Given the description of an element on the screen output the (x, y) to click on. 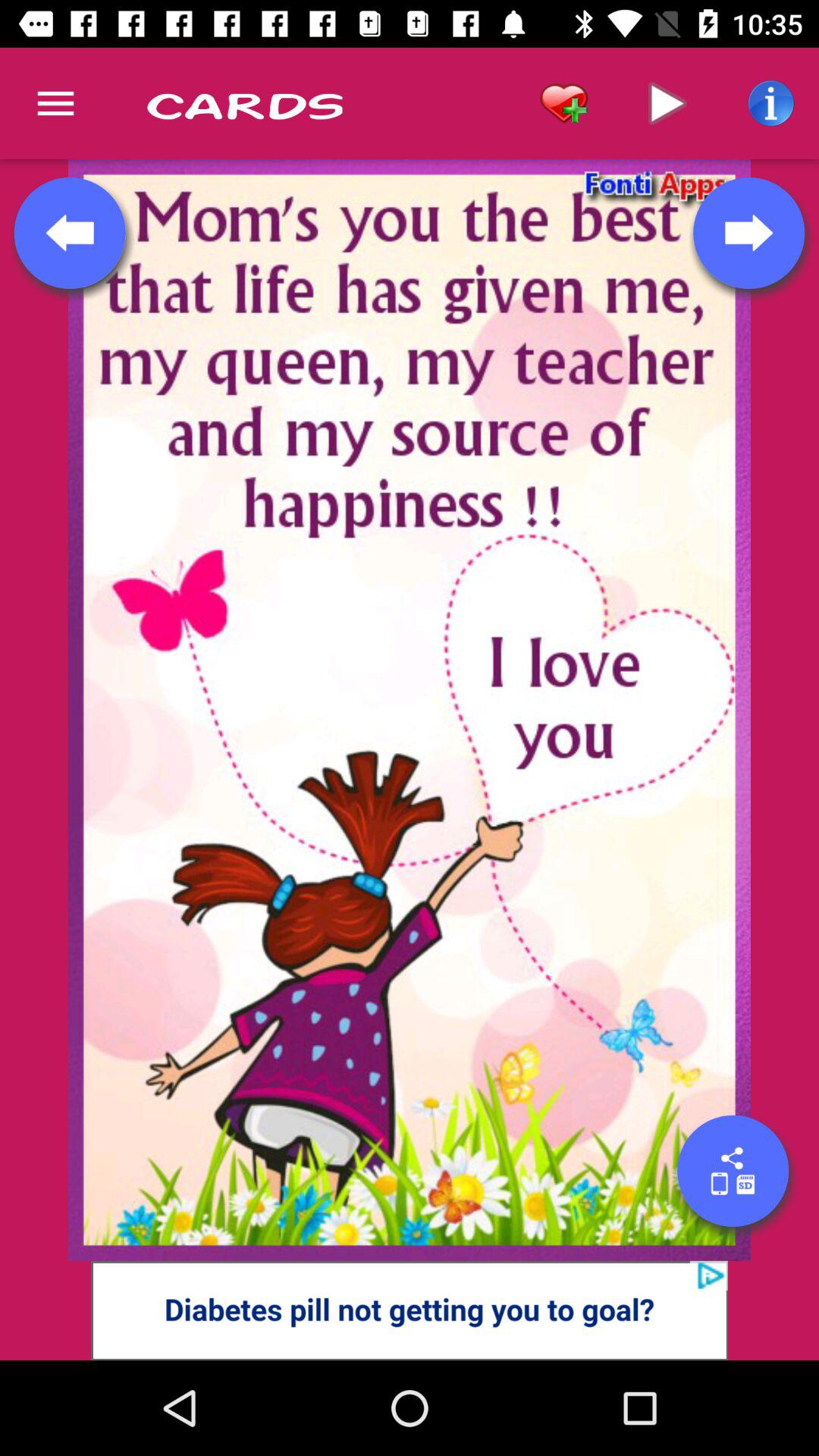
share button (733, 1171)
